Given the description of an element on the screen output the (x, y) to click on. 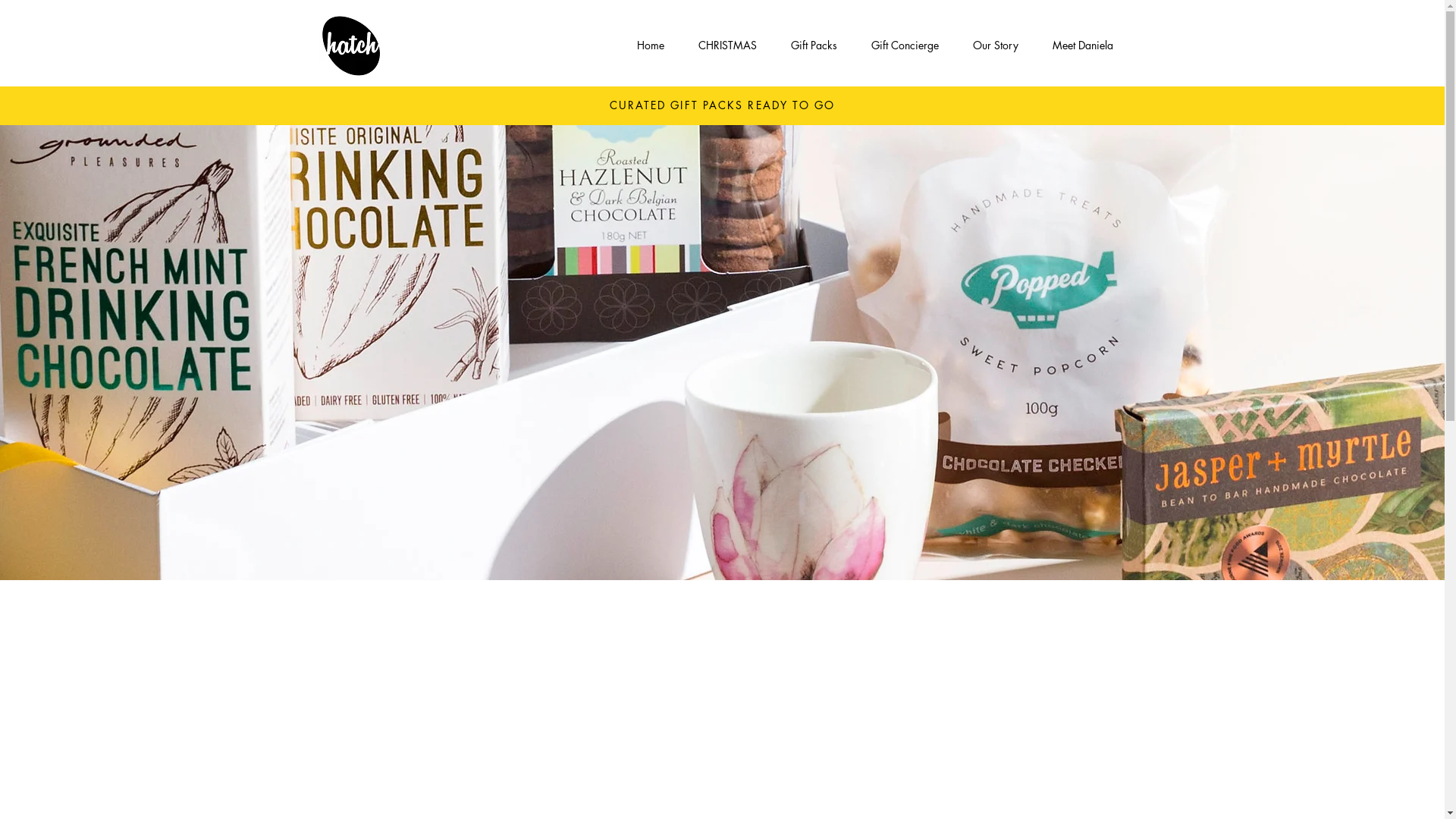
CHRISTMAS Element type: text (726, 45)
Home Element type: text (650, 45)
Our Story Element type: text (995, 45)
Gift Packs Element type: text (813, 45)
Meet Daniela Element type: text (1082, 45)
Gift Concierge Element type: text (904, 45)
